Given the description of an element on the screen output the (x, y) to click on. 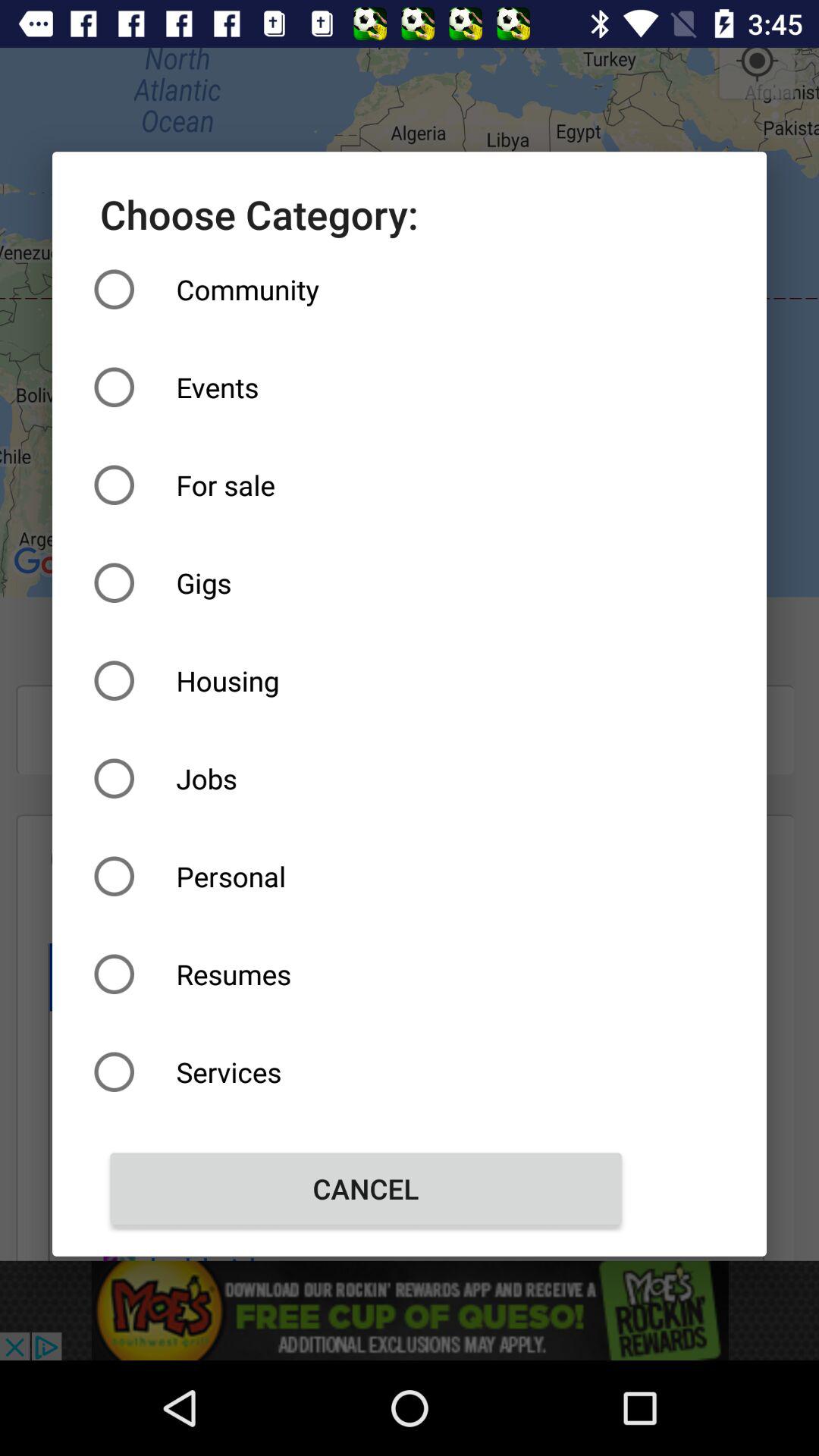
press the icon below the for sale (365, 582)
